Given the description of an element on the screen output the (x, y) to click on. 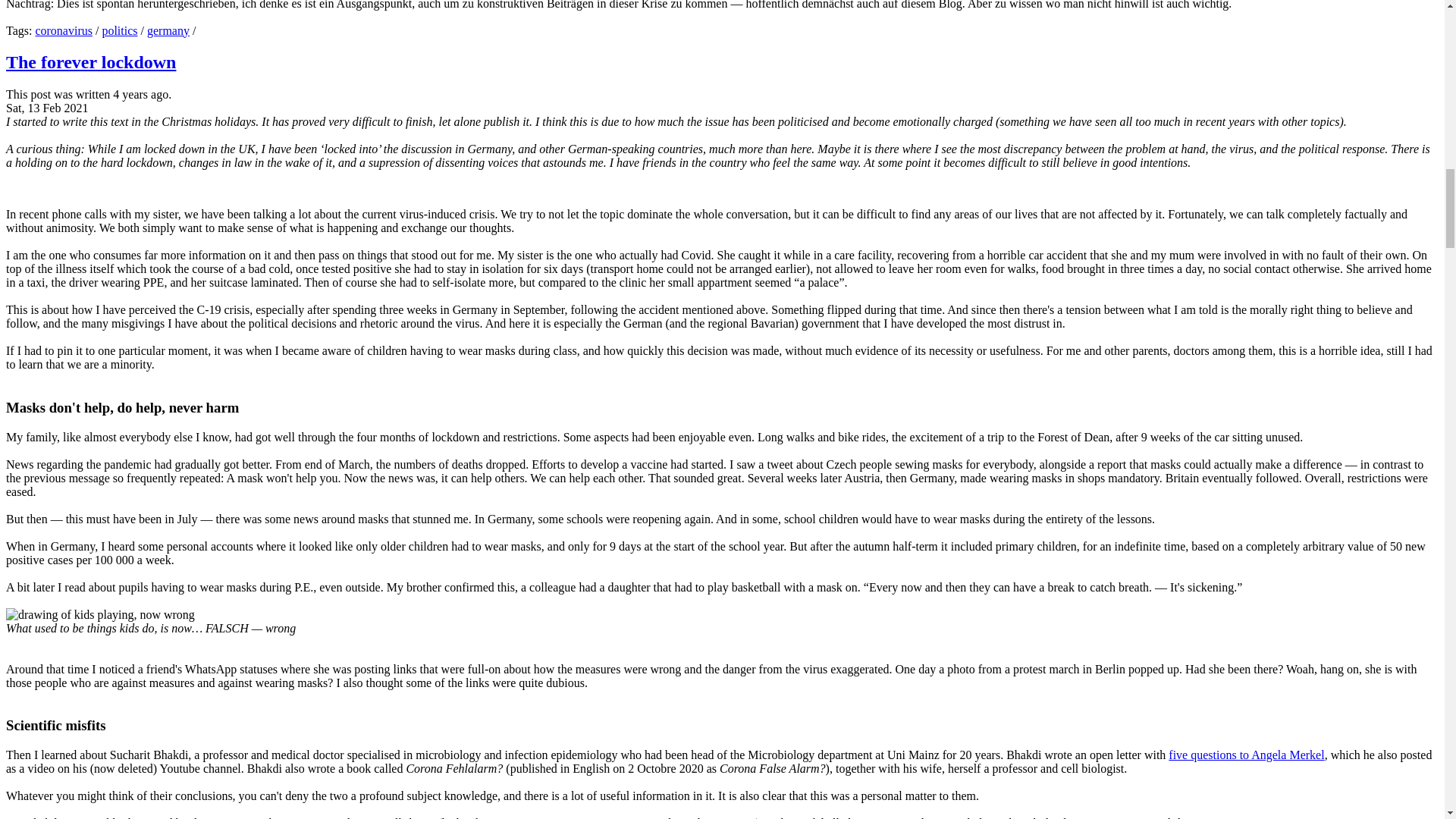
politics (118, 30)
germany (168, 30)
five questions to Angela Merkel (1246, 754)
coronavirus (63, 30)
